Given the description of an element on the screen output the (x, y) to click on. 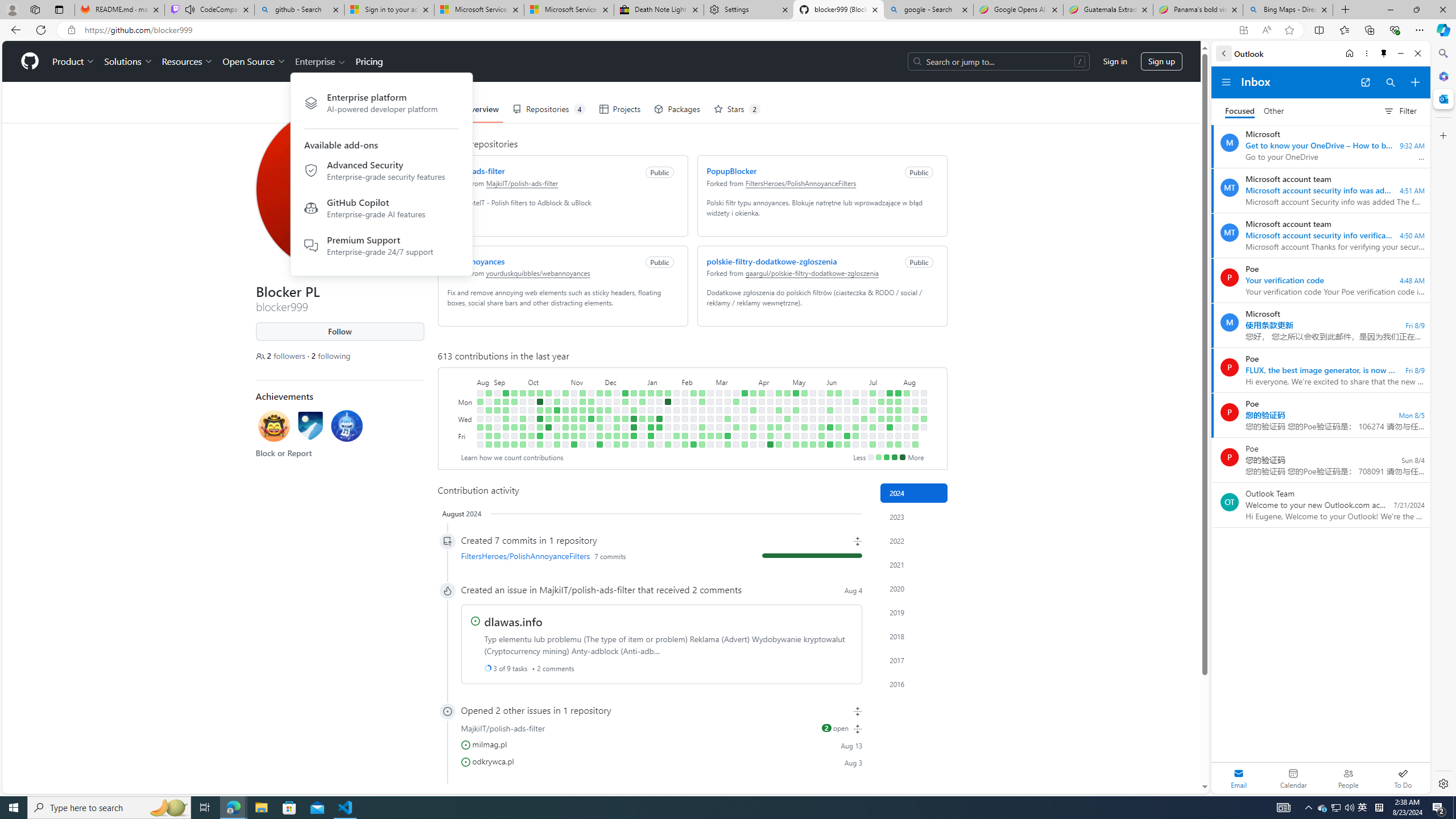
No contributions on January 16th. (658, 410)
No contributions on June 7th. (829, 435)
No contributions on March 20th. (735, 418)
No contributions on July 2nd. (863, 410)
3 contributions on September 18th. (513, 401)
No contributions on May 28th. (821, 410)
No contributions on April 16th. (770, 410)
7 contributions on July 28th. (897, 392)
1 contribution on September 14th. (505, 427)
3 contributions on February 10th. (684, 444)
No contributions on April 8th. (761, 401)
3 contributions on November 30th. (598, 427)
3 contributions on November 20th. (591, 401)
No contributions on December 4th. (607, 401)
